Given the description of an element on the screen output the (x, y) to click on. 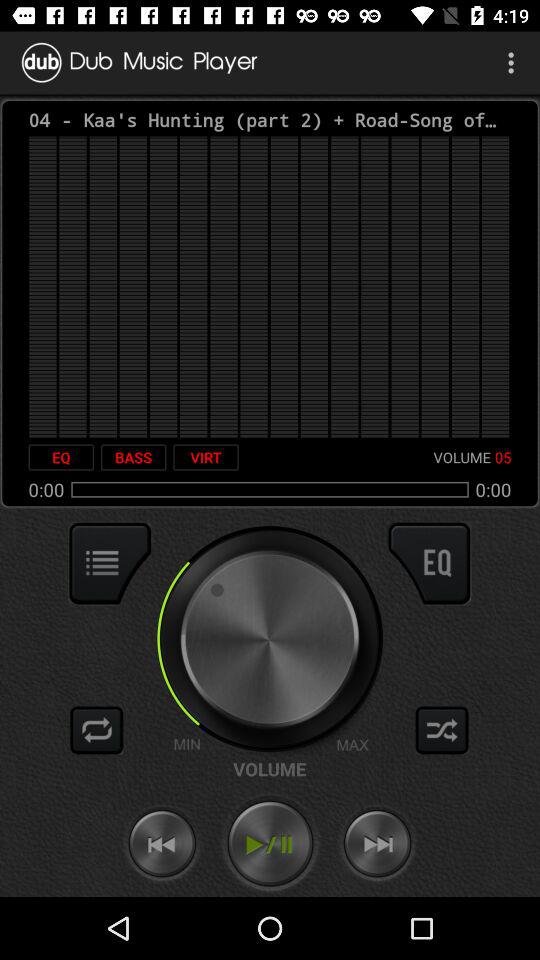
shuffle play music (442, 730)
